Given the description of an element on the screen output the (x, y) to click on. 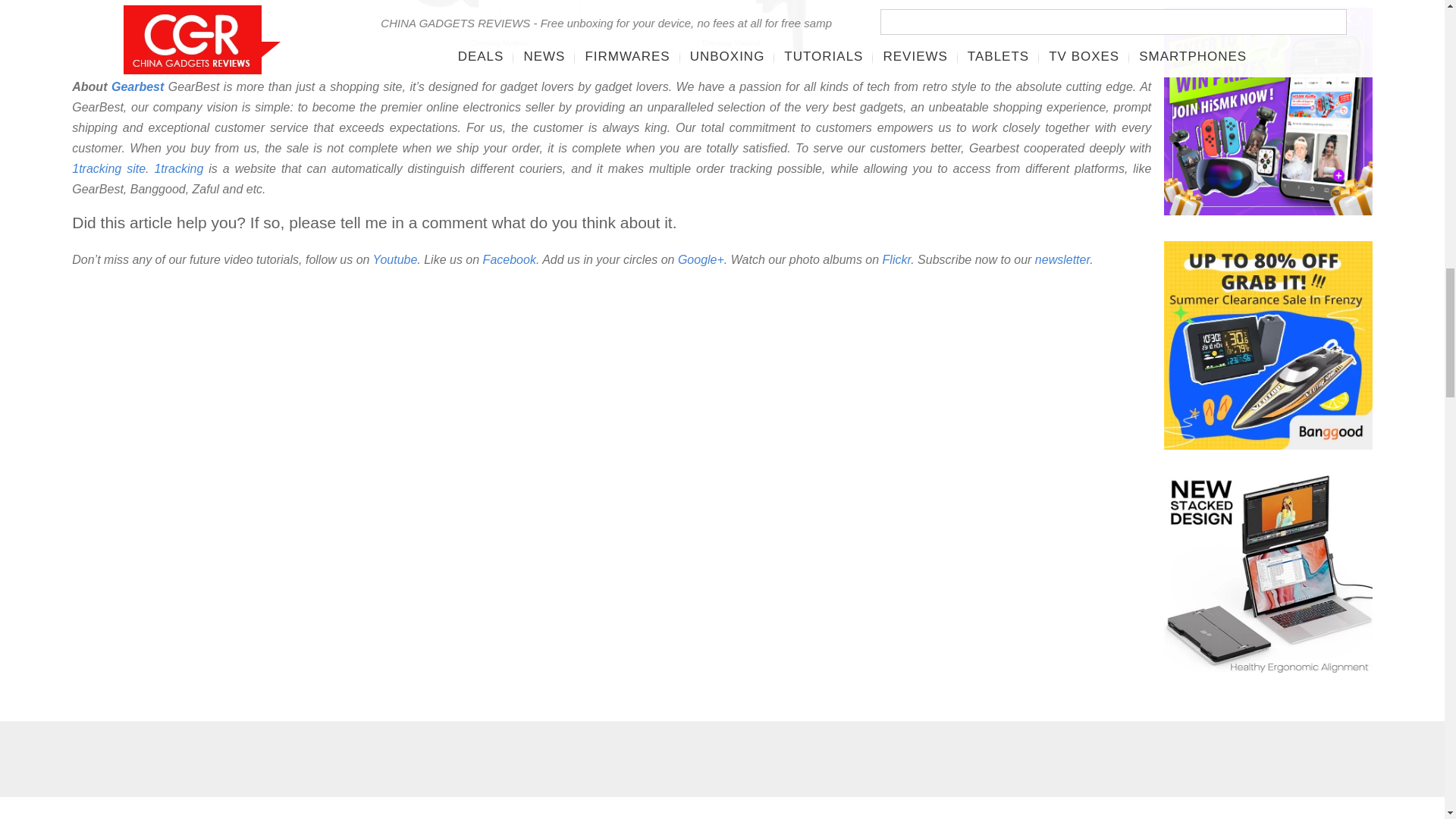
Facebook (509, 259)
1tracking (178, 168)
Flickr. (898, 259)
Youtube (394, 259)
1tracking site (108, 168)
Gearbest (137, 86)
newsletter (1062, 259)
